Given the description of an element on the screen output the (x, y) to click on. 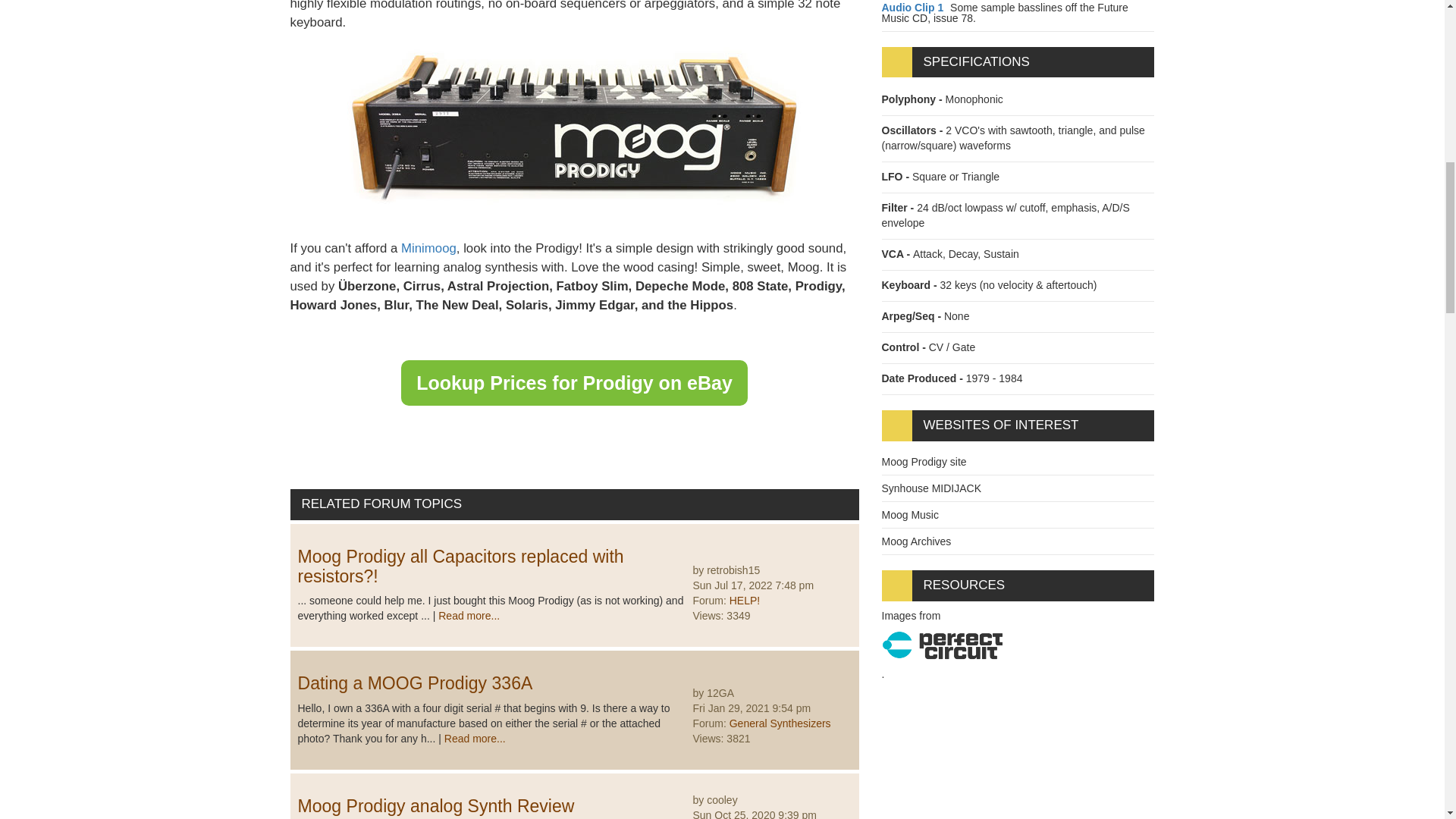
Lookup Prices for Prodigy on eBay (574, 382)
HELP! (744, 600)
Read more... (468, 615)
General Synthesizers (780, 723)
Read more... (474, 738)
Moog Prodigy all Capacitors replaced with resistors?! (460, 566)
Minimoog (429, 247)
Dating a MOOG Prodigy 336A (414, 682)
